Given the description of an element on the screen output the (x, y) to click on. 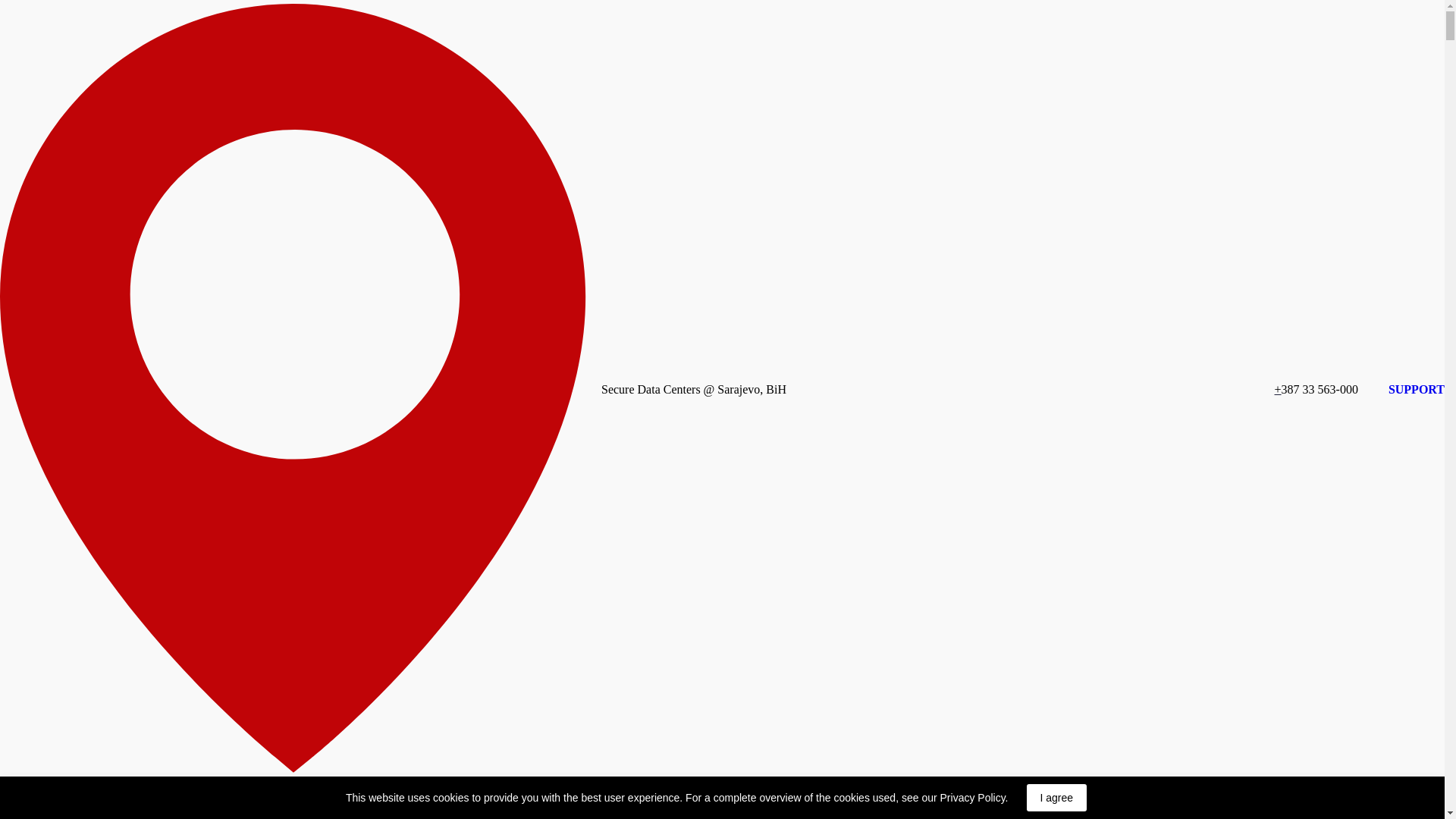
I agree Element type: text (1056, 797)
+ Element type: text (1277, 388)
SUPPORT Element type: text (1416, 389)
